Given the description of an element on the screen output the (x, y) to click on. 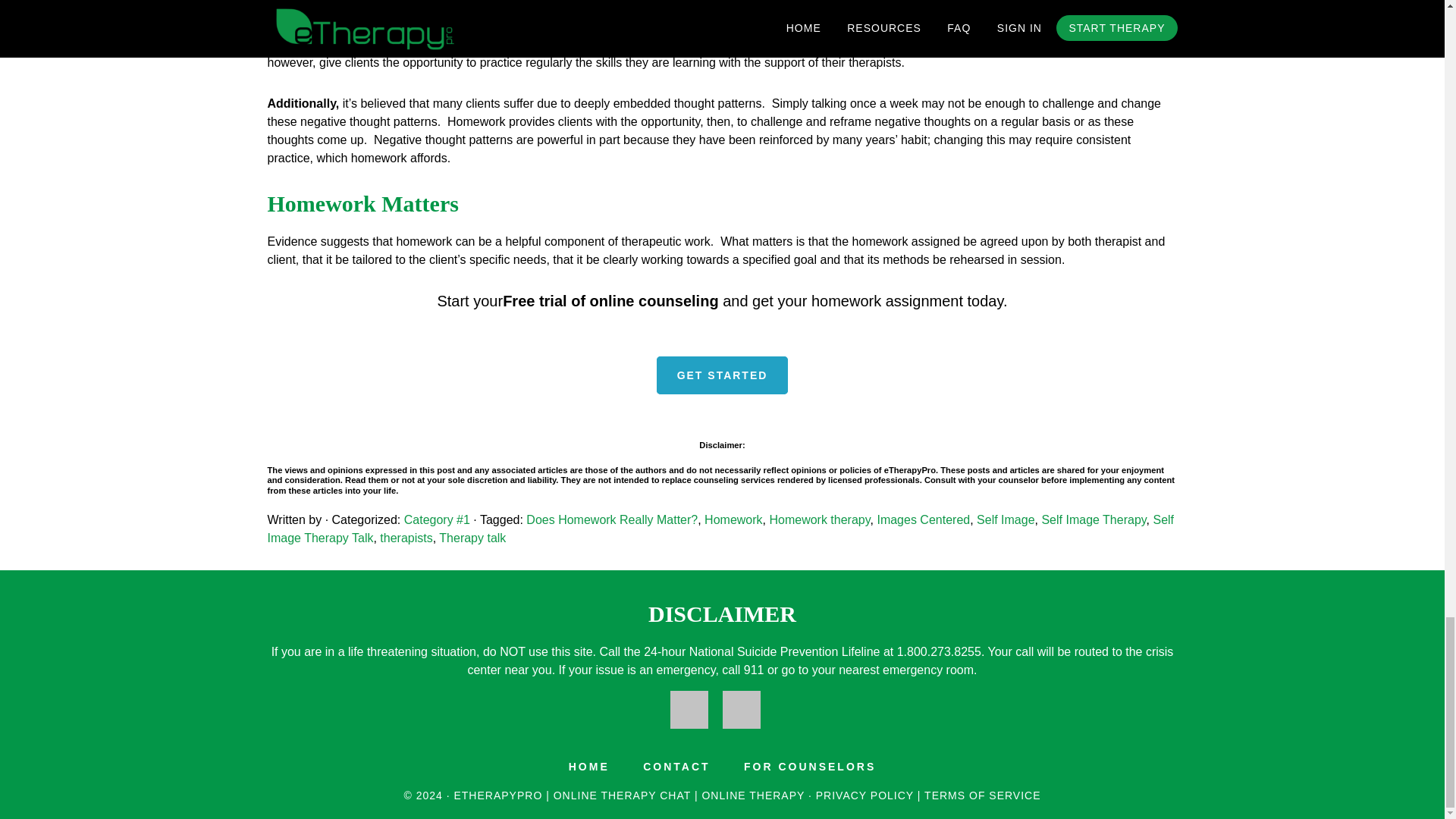
GET STARTED (722, 374)
Does Homework Really Matter? (611, 519)
Images Centered (922, 519)
Homework (732, 519)
Self Image (1004, 519)
Homework therapy (818, 519)
talk therapy (882, 43)
